Given the description of an element on the screen output the (x, y) to click on. 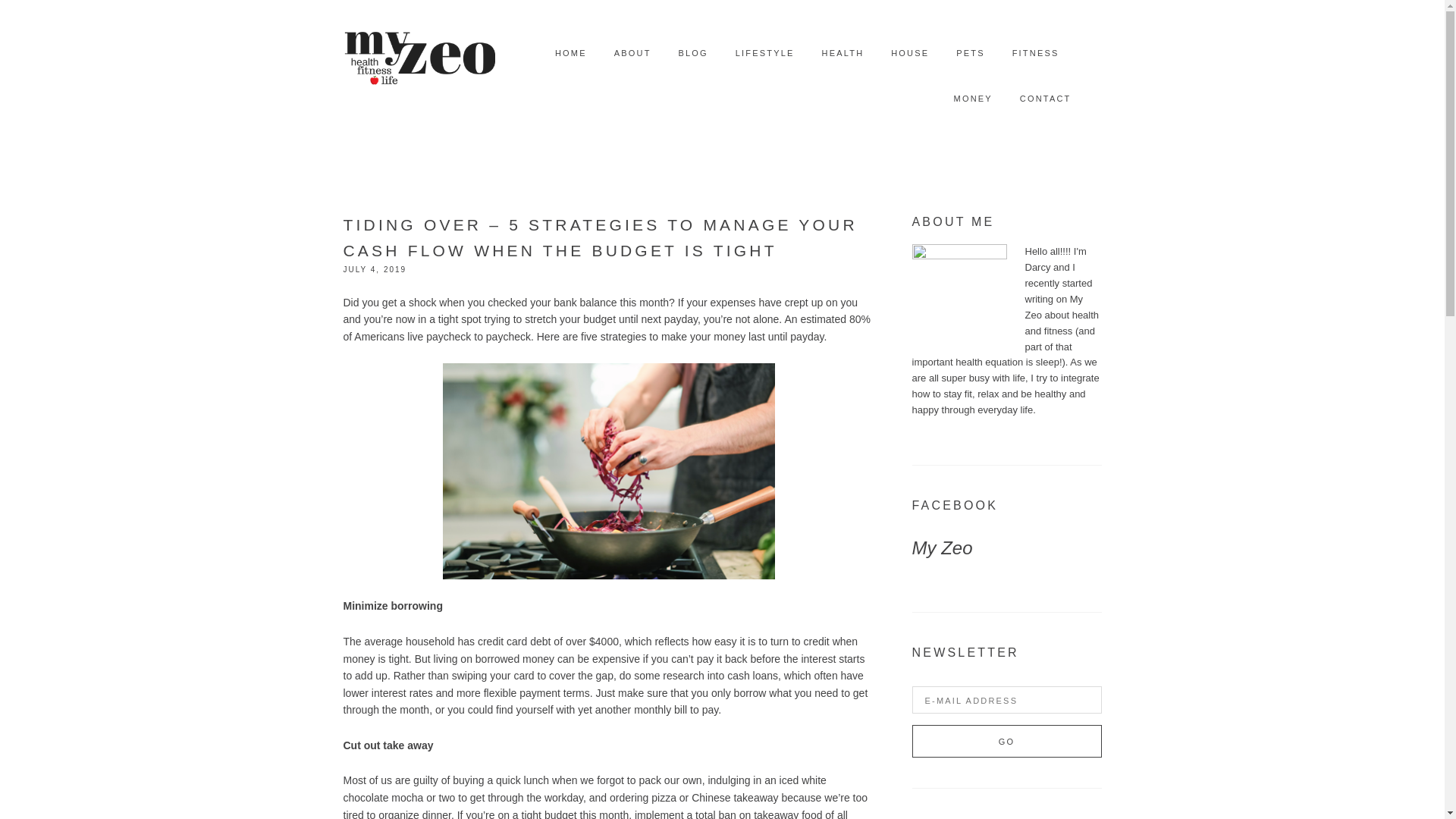
HEALTH (843, 53)
My Zeo (941, 547)
LIFESTYLE (764, 53)
CONTACT (1045, 98)
Go (1005, 740)
MY ZEO (418, 53)
Go (1005, 740)
FITNESS (1035, 53)
cash loans (751, 675)
